Given the description of an element on the screen output the (x, y) to click on. 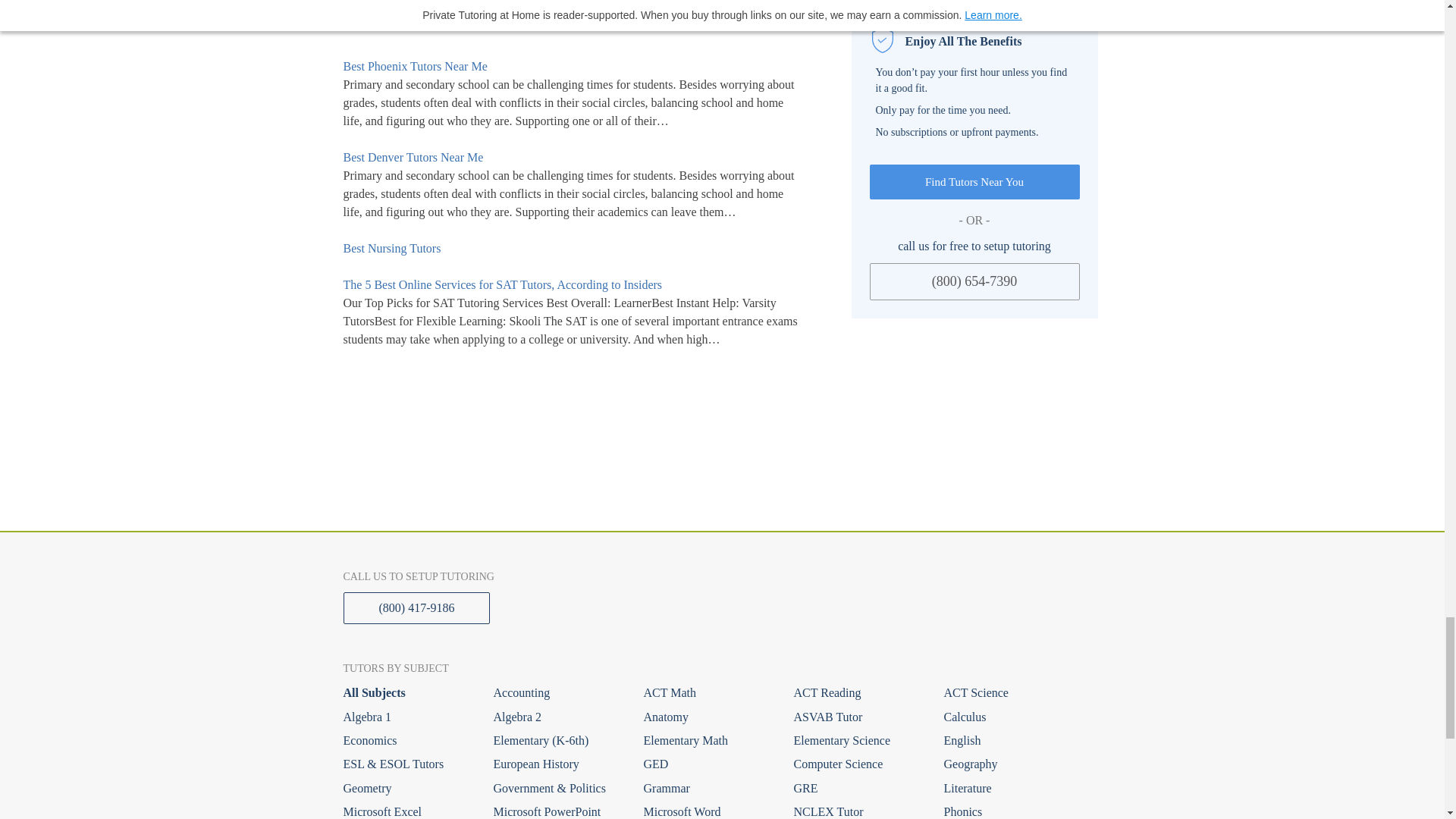
Algebra 1 (406, 717)
Best Phoenix Tutors Near Me (573, 73)
ACT Reading (857, 692)
Calculus (1007, 717)
Best Denver Tutors Near Me (573, 164)
All Subjects (406, 692)
ASVAB Tutor (857, 717)
Algebra 2 (557, 717)
Economics (406, 740)
ACT Science (1007, 692)
Anatomy (707, 717)
Best Nursing Tutors (573, 248)
ACT Math (707, 692)
Accounting (557, 692)
